Given the description of an element on the screen output the (x, y) to click on. 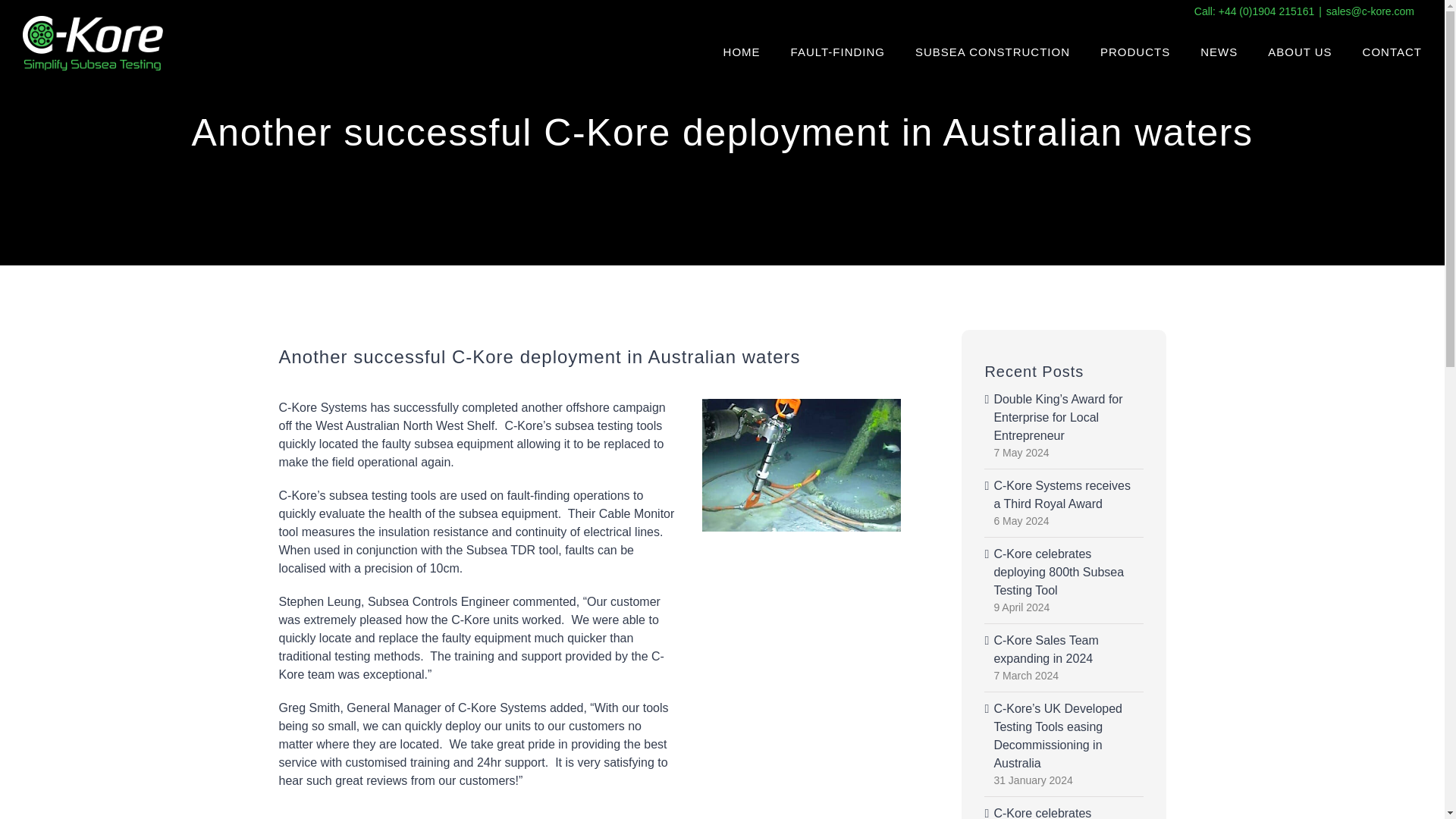
PRODUCTS (1135, 51)
HOME (741, 51)
NEWS (1218, 51)
SUBSEA CONSTRUCTION (992, 51)
CONTACT (1392, 51)
ABOUT US (1300, 51)
FAULT-FINDING (837, 51)
